Given the description of an element on the screen output the (x, y) to click on. 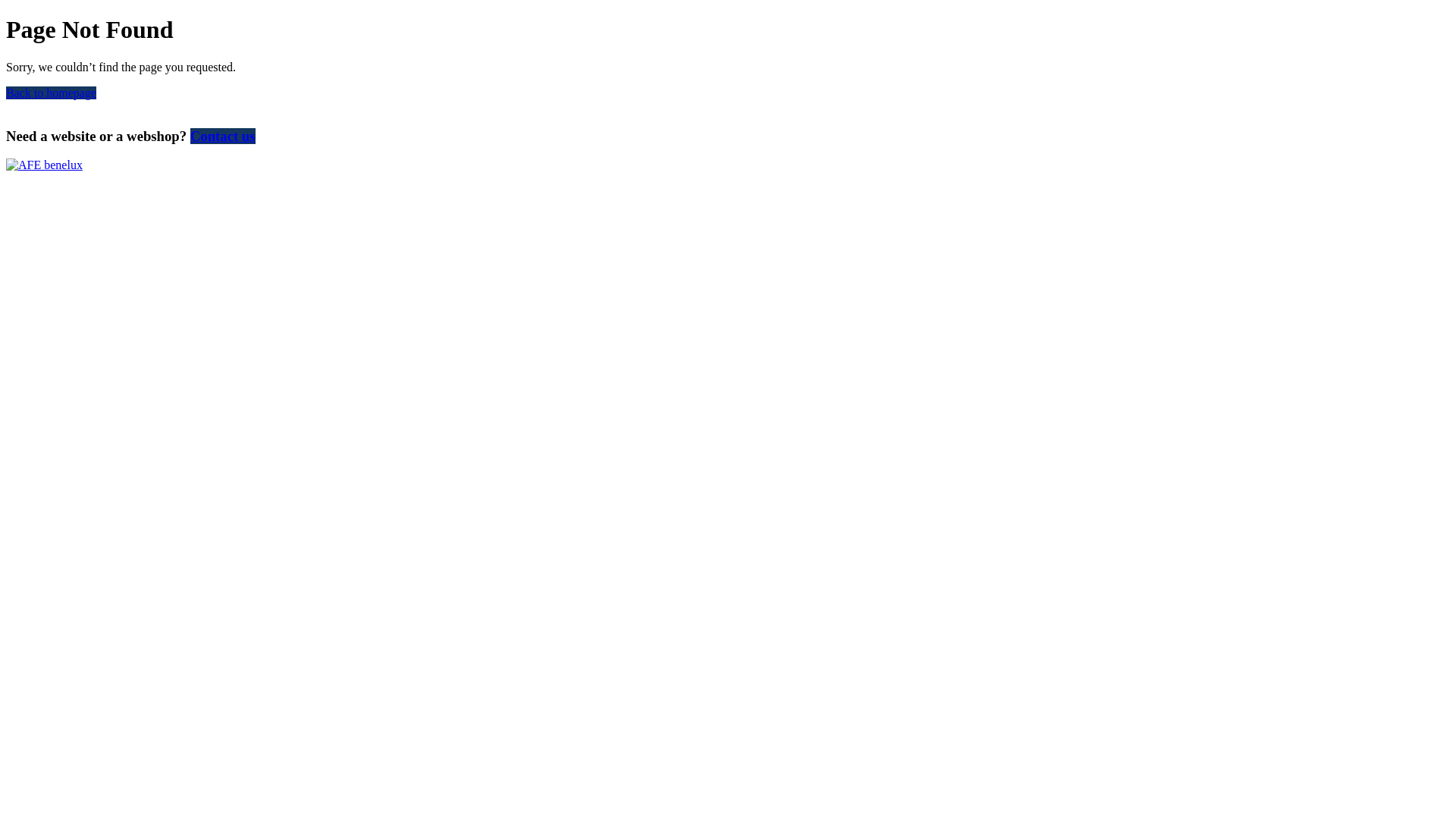
AFE benelux Element type: hover (44, 164)
Contact us Element type: text (222, 136)
Back to homepage Element type: text (51, 92)
